Given the description of an element on the screen output the (x, y) to click on. 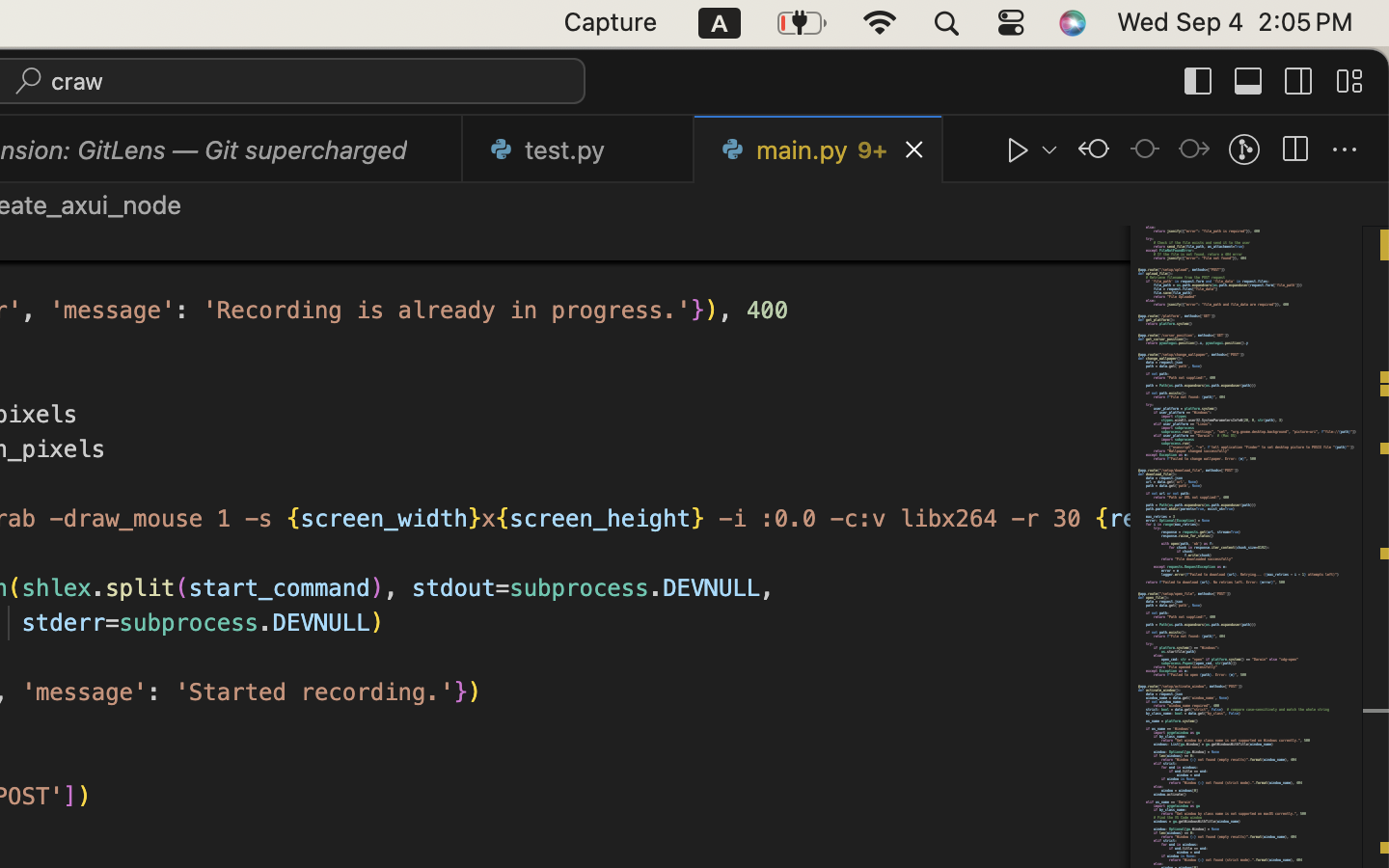
 Element type: AXCheckBox (1248, 80)
 Element type: AXGroup (1018, 150)
 Element type: AXButton (1349, 80)
 Element type: AXStaticText (1344, 150)
craw Element type: AXStaticText (78, 80)
